Given the description of an element on the screen output the (x, y) to click on. 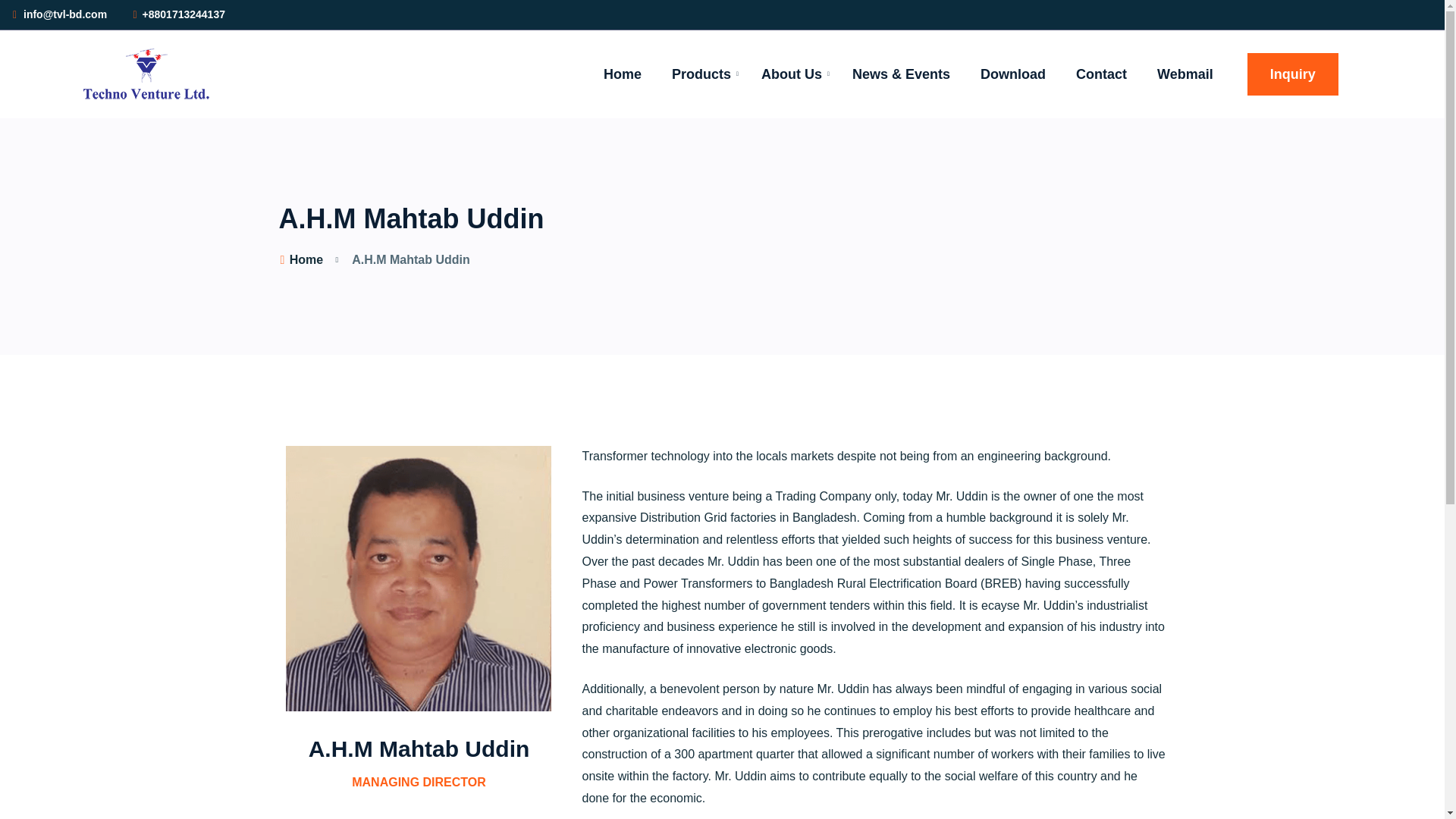
Webmail (1185, 73)
Home (622, 73)
Products (700, 73)
Home (622, 73)
Download (1012, 73)
Webmail (1185, 73)
Contact (1101, 73)
Home (301, 259)
About Us (791, 73)
Download (1012, 73)
Products (700, 73)
About Us (791, 73)
Inquiry (1292, 74)
Contact (1101, 73)
